Given the description of an element on the screen output the (x, y) to click on. 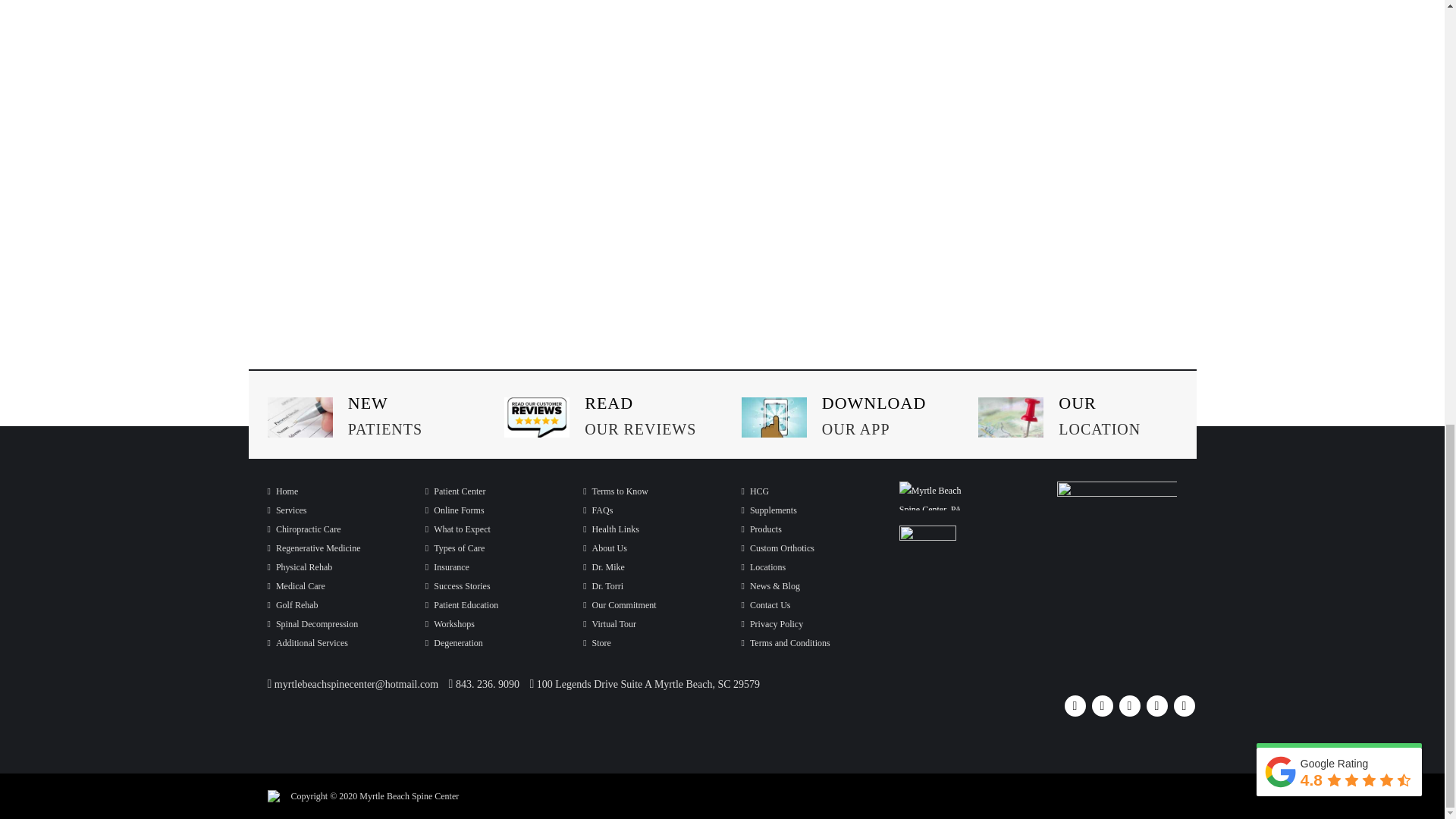
Medical Care (295, 585)
Myrtle Beach Spine Center (282, 491)
Chiropractic Care (303, 529)
Golf Rehab (291, 604)
Additional Services (306, 643)
Types of Care (454, 547)
Patient Center (455, 491)
Spinal Decompression (312, 624)
What to Expect (457, 529)
Physical Rehab (298, 566)
Online Forms (454, 510)
Services (285, 510)
